Given the description of an element on the screen output the (x, y) to click on. 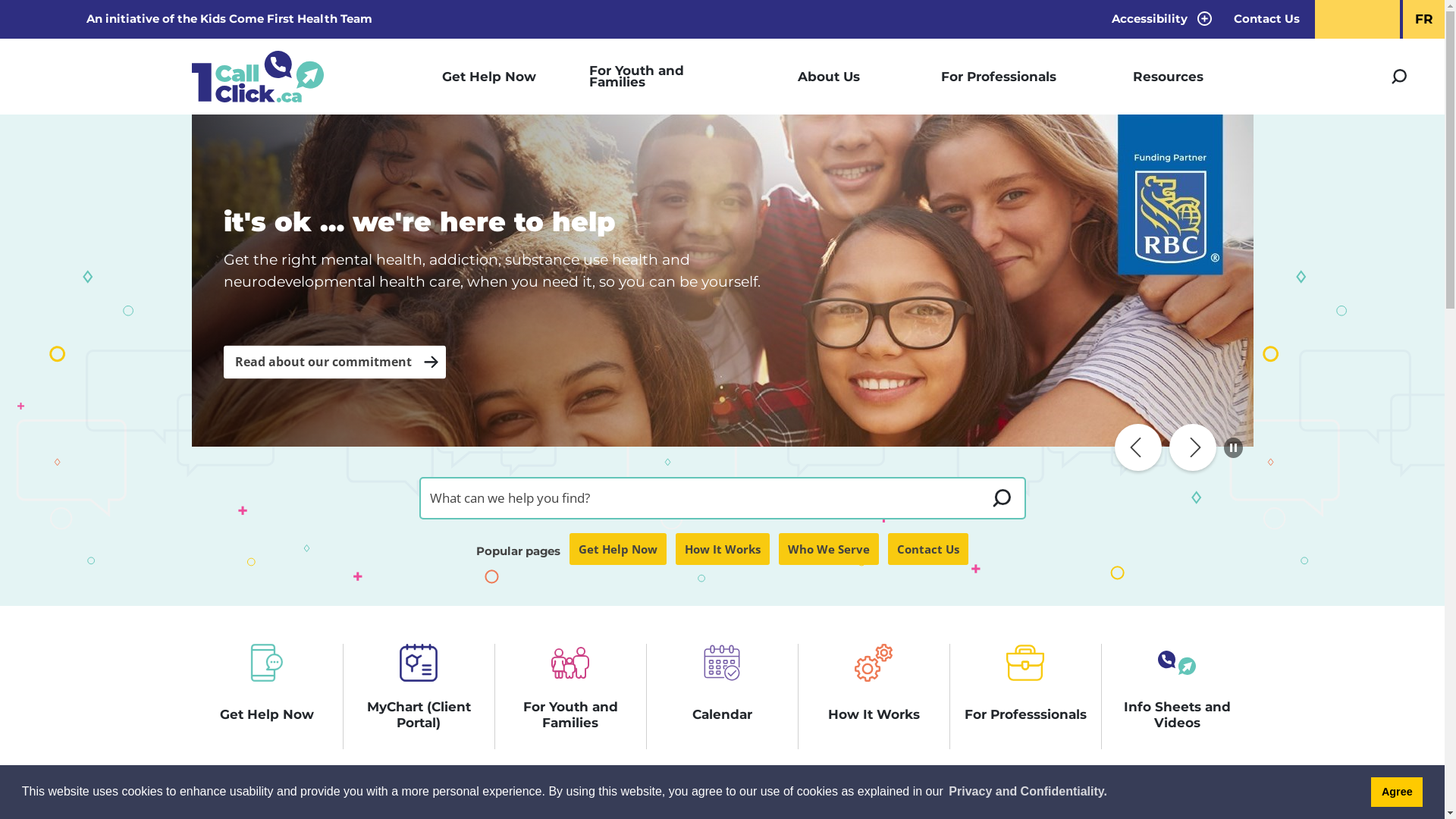
Enter search keywords Element type: hover (699, 497)
Agree Element type: text (1396, 791)
How It Works Element type: text (872, 696)
MyChart (Client Portal) Element type: text (417, 696)
Get Help Now Element type: text (266, 696)
Skip to Content Element type: text (0, 0)
1Call1Click.ca Element type: hover (721, 280)
Get Help Now Element type: text (617, 548)
Kids Come First Health Team Element type: text (286, 18)
For Professionals Element type: text (997, 76)
Resources Element type: text (1167, 76)
Privacy and Confidentiality. Element type: text (1027, 791)
Previous Banner Element type: text (1137, 446)
Calendar Element type: text (721, 696)
Accessibility Element type: text (1158, 19)
FR Element type: text (1424, 19)
Read about our commitment Element type: text (333, 361)
Contact Us Element type: text (1266, 19)
Who We Serve Element type: text (828, 548)
Get Help Now Element type: text (488, 76)
Next Banner Element type: text (1192, 446)
For Youth and Families Element type: text (569, 696)
Play/Pause Banner Element type: text (1232, 447)
Contact Us Element type: text (928, 548)
About Us Element type: text (828, 76)
Click to return to the homepage Element type: hover (257, 76)
How It Works Element type: text (722, 548)
SEARCH Element type: text (1000, 497)
For Youth and Families Element type: text (658, 76)
Search Element type: text (1398, 76)
Info Sheets and Videos Element type: text (1176, 696)
For Professsionals Element type: text (1024, 696)
